Given the description of an element on the screen output the (x, y) to click on. 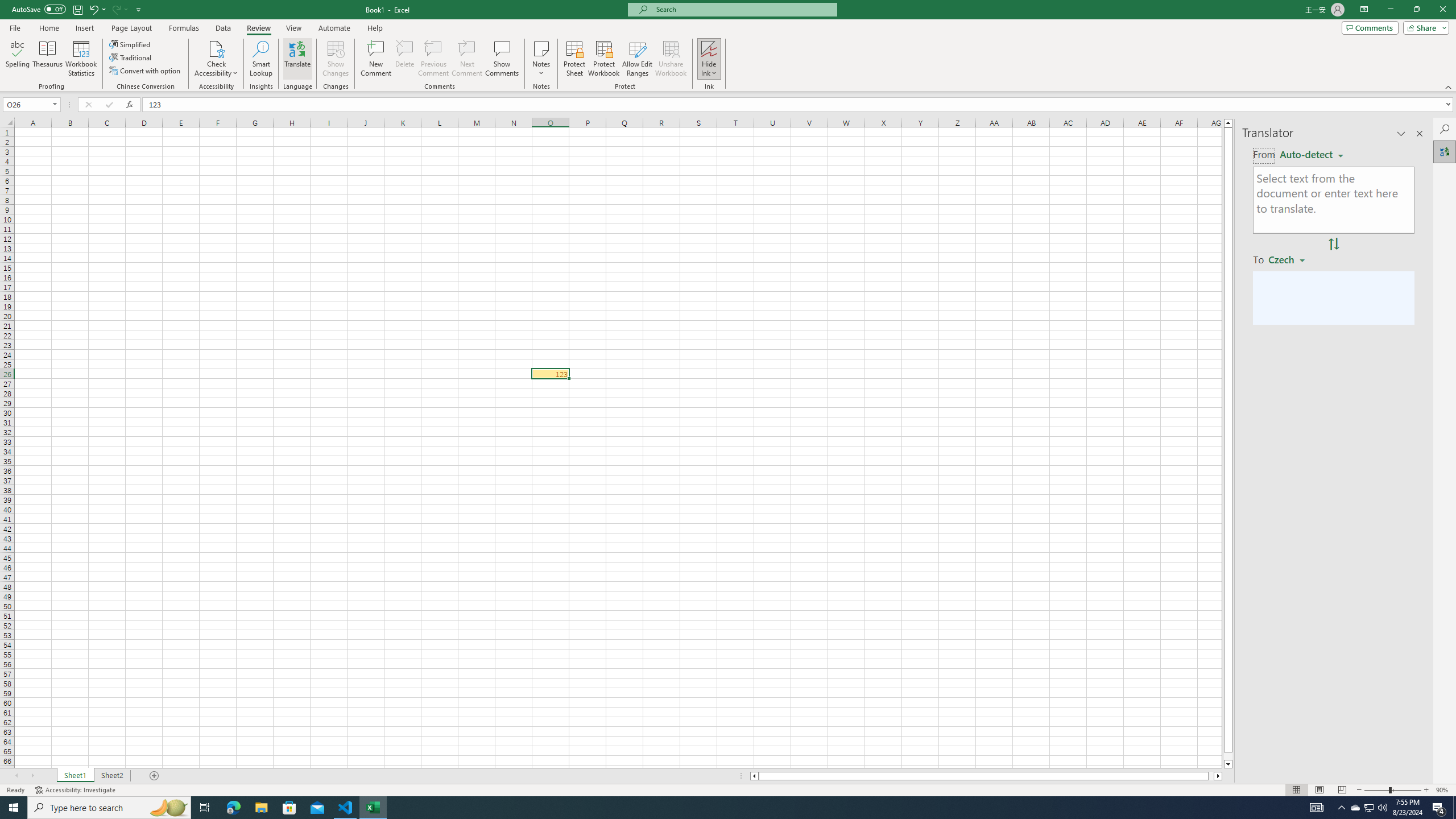
Swap "from" and "to" languages. (1333, 244)
Workbook Statistics (81, 58)
Convert with option (145, 69)
Czech (1291, 259)
English (1310, 154)
